Given the description of an element on the screen output the (x, y) to click on. 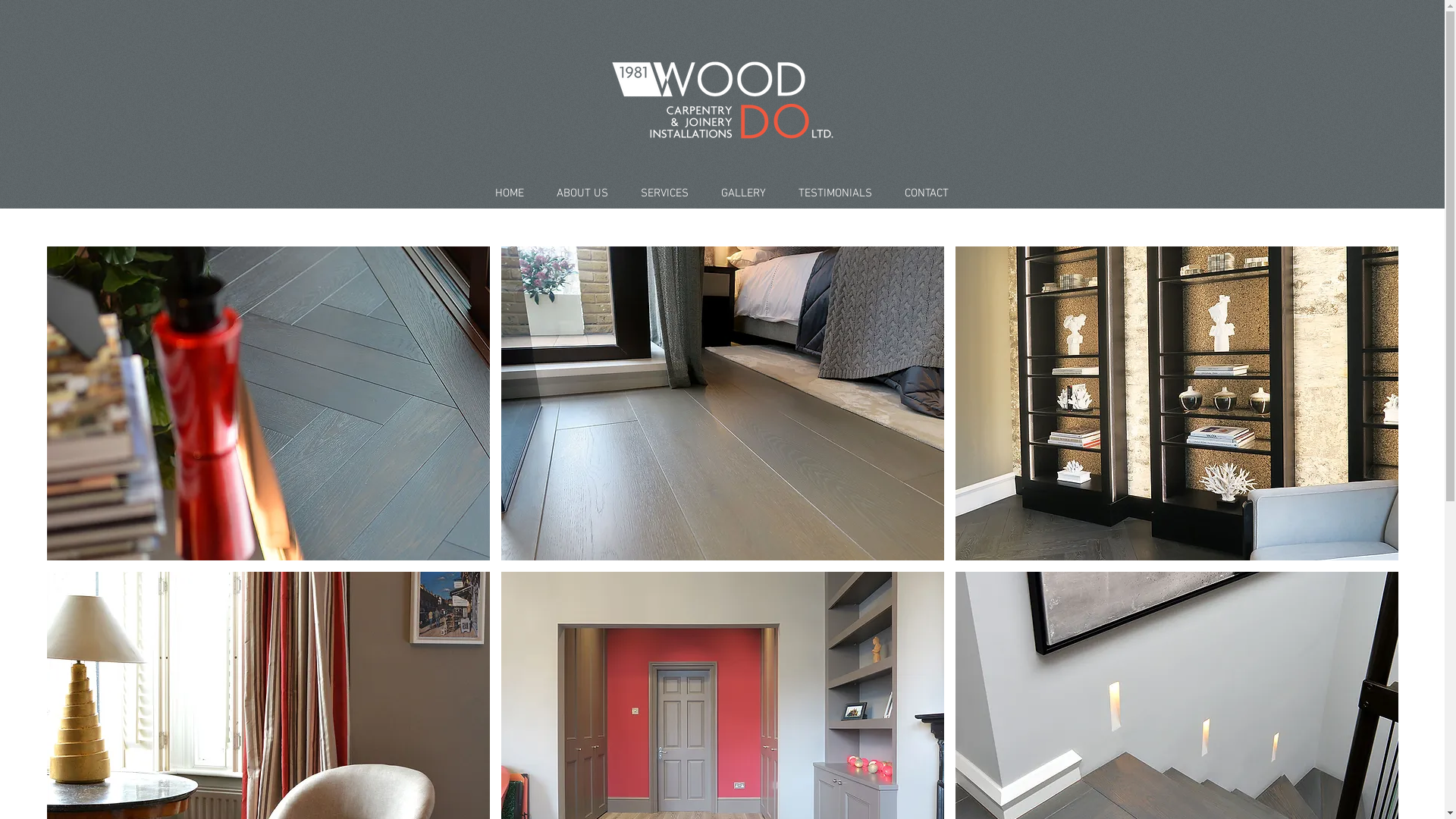
TESTIMONIALS Element type: text (835, 193)
HOME Element type: text (509, 193)
SERVICES Element type: text (664, 193)
CONTACT Element type: text (926, 193)
ABOUT US Element type: text (581, 193)
